Given the description of an element on the screen output the (x, y) to click on. 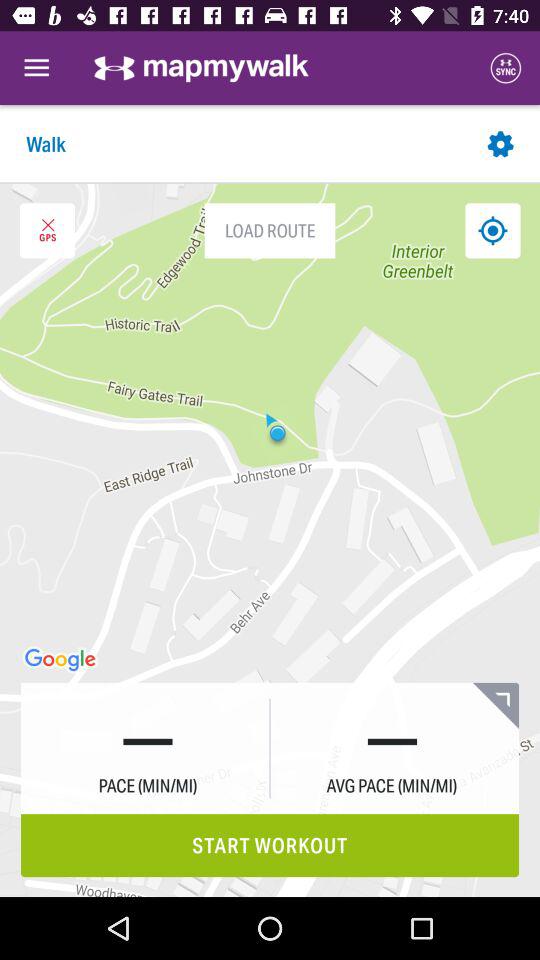
choose item next to load route icon (492, 230)
